Given the description of an element on the screen output the (x, y) to click on. 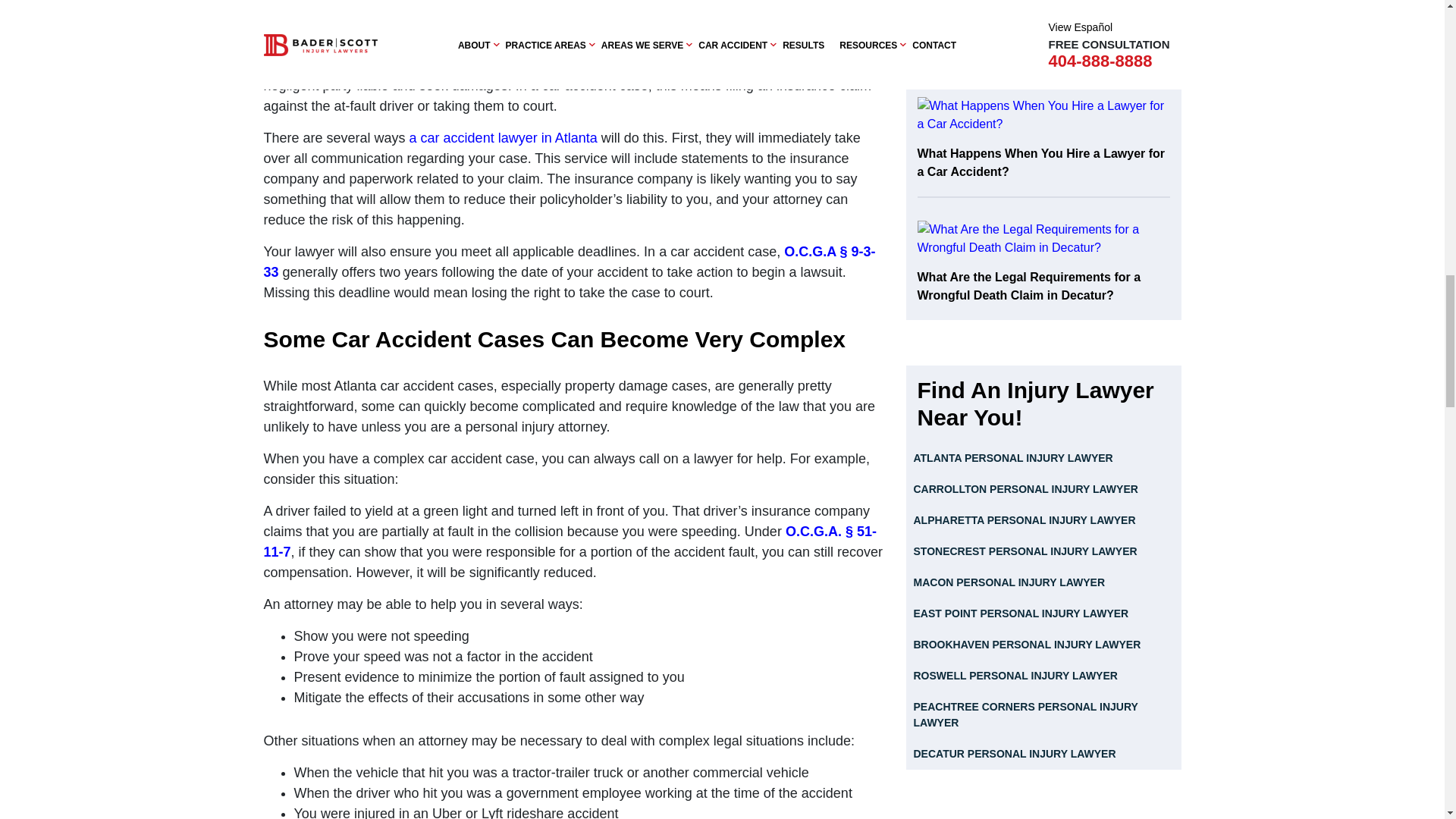
Can a Landlord Be Held Liable for a Dog Bite? (1043, 4)
Can a Landlord Be Held Liable for a Dog Bite? (1043, 37)
What Happens When You Hire a Lawyer for a Car Accident? (1043, 115)
What Happens When You Hire a Lawyer for a Car Accident? (1043, 147)
